Given the description of an element on the screen output the (x, y) to click on. 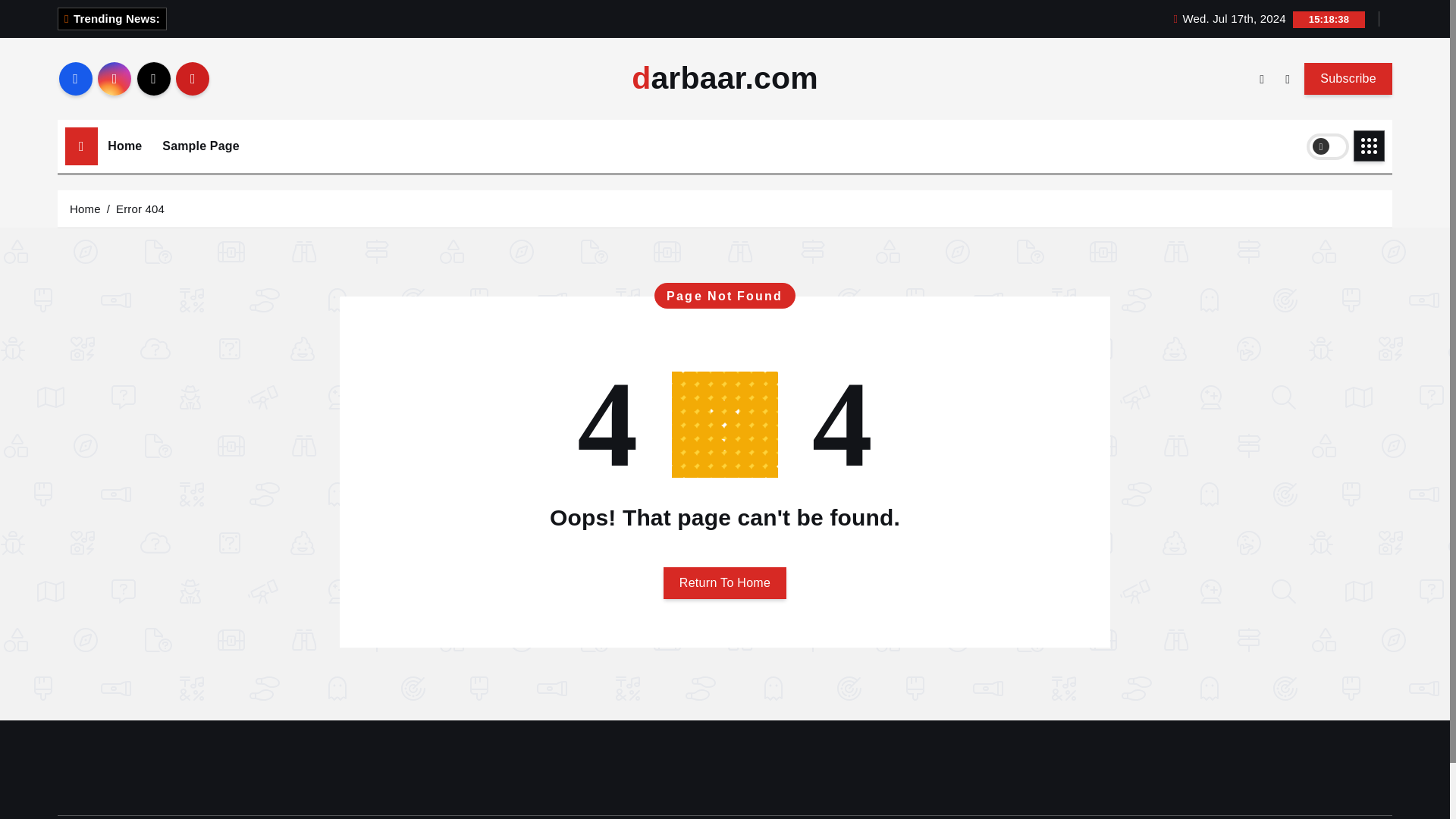
Home (124, 146)
Return To Home (724, 582)
Sample Page (200, 146)
Error 404 (140, 207)
Home (124, 146)
Subscribe (1347, 78)
darbaar.com (724, 78)
Home (84, 207)
